Given the description of an element on the screen output the (x, y) to click on. 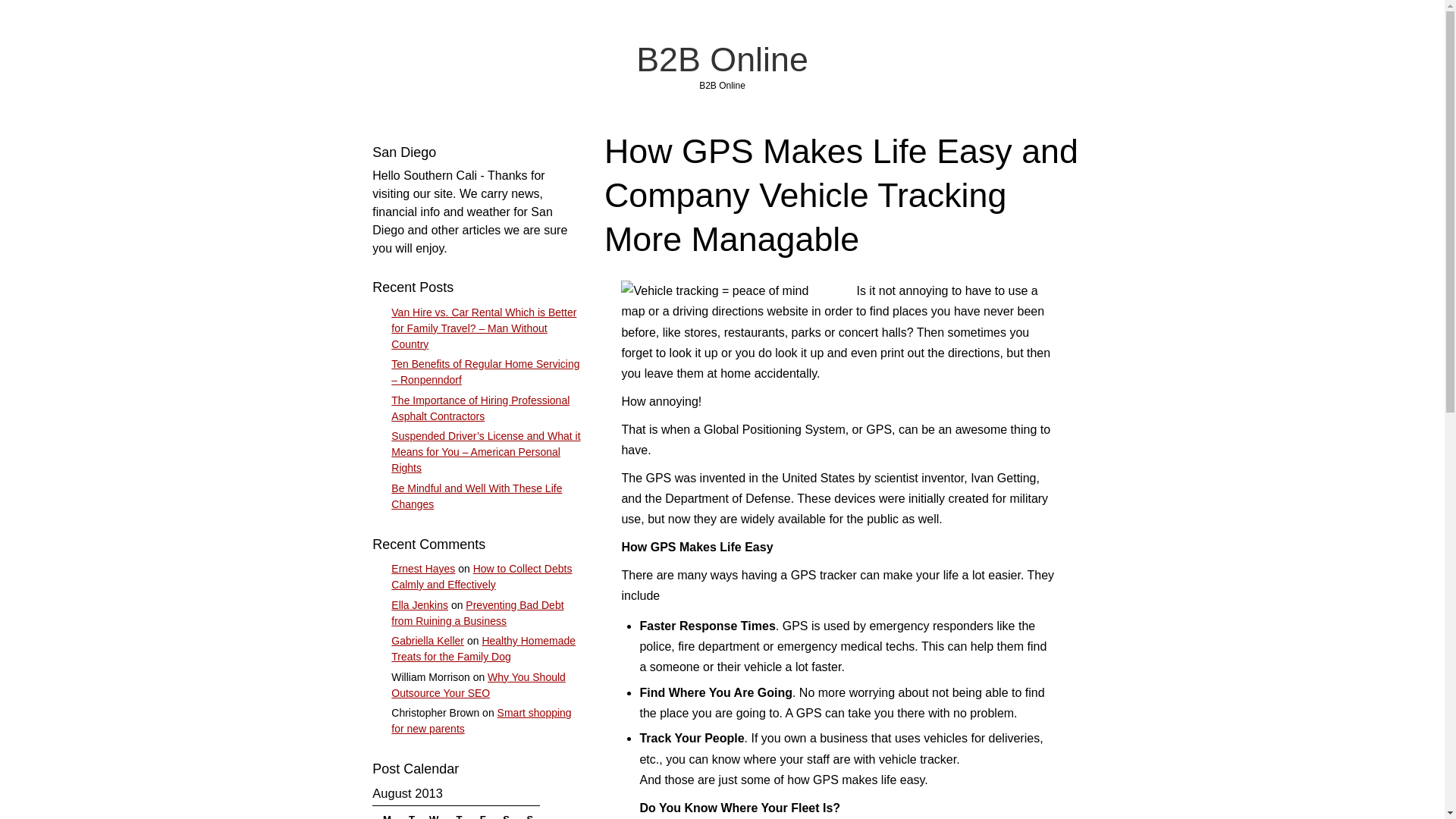
Friday (479, 813)
Healthy Homemade Treats for the Family Dog (483, 648)
How to Collect Debts Calmly and Effectively (481, 576)
Be Mindful and Well With These Life Changes (476, 496)
Saturday (502, 813)
Gabriella Keller (427, 640)
Tuesday (408, 813)
Why You Should Outsource Your SEO (478, 684)
Monday (385, 813)
Wednesday (433, 813)
